Given the description of an element on the screen output the (x, y) to click on. 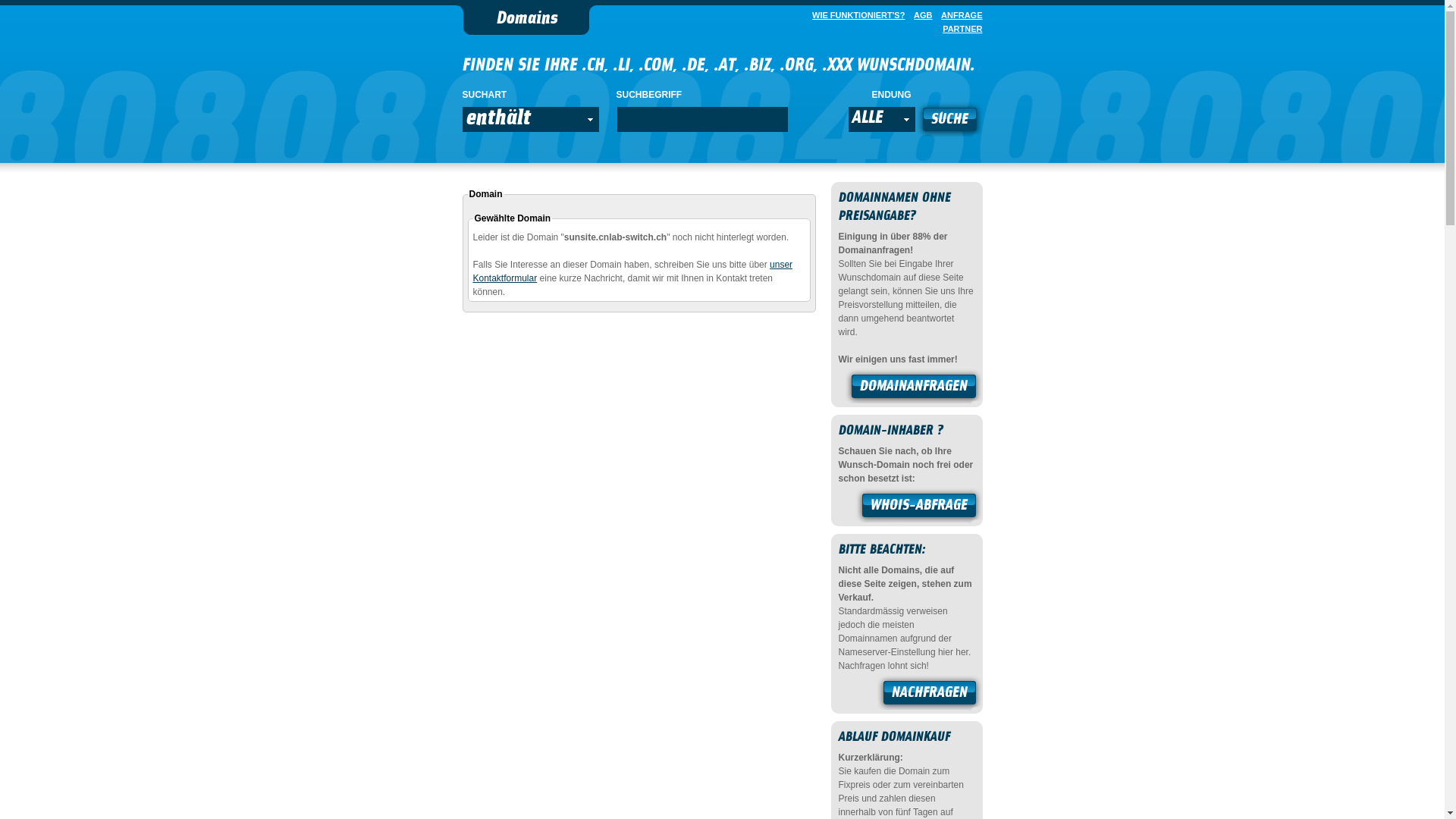
Domains Element type: text (526, 19)
PARTNER Element type: text (959, 28)
SUCHE Element type: text (949, 121)
ANFRAGE Element type: text (958, 14)
DOMAINANFRAGEN Element type: text (913, 387)
unser Kontaktformular Element type: text (633, 271)
AGB Element type: text (919, 14)
WHOIS-ABFRAGE Element type: text (918, 507)
NACHFRAGEN Element type: text (929, 694)
WIE FUNKTIONIERT'S? Element type: text (855, 14)
